Given the description of an element on the screen output the (x, y) to click on. 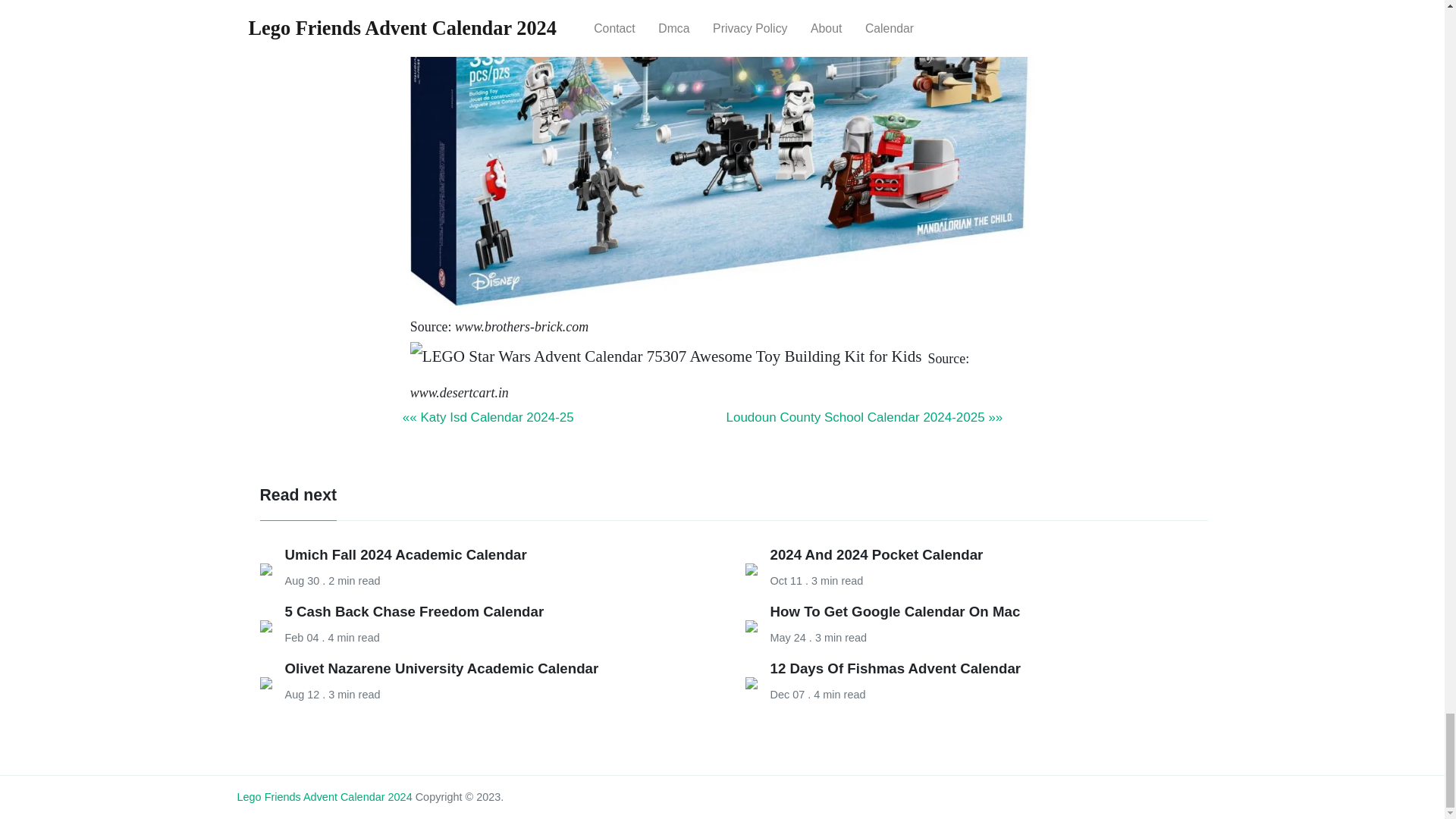
2024 And 2024 Pocket Calendar (877, 554)
5 Cash Back Chase Freedom Calendar (414, 611)
How To Get Google Calendar On Mac (895, 611)
12 Days Of Fishmas Advent Calendar (896, 668)
Lego Friends Advent Calendar 2024 (323, 797)
Olivet Nazarene University Academic Calendar (441, 668)
Umich Fall 2024 Academic Calendar (406, 554)
